Given the description of an element on the screen output the (x, y) to click on. 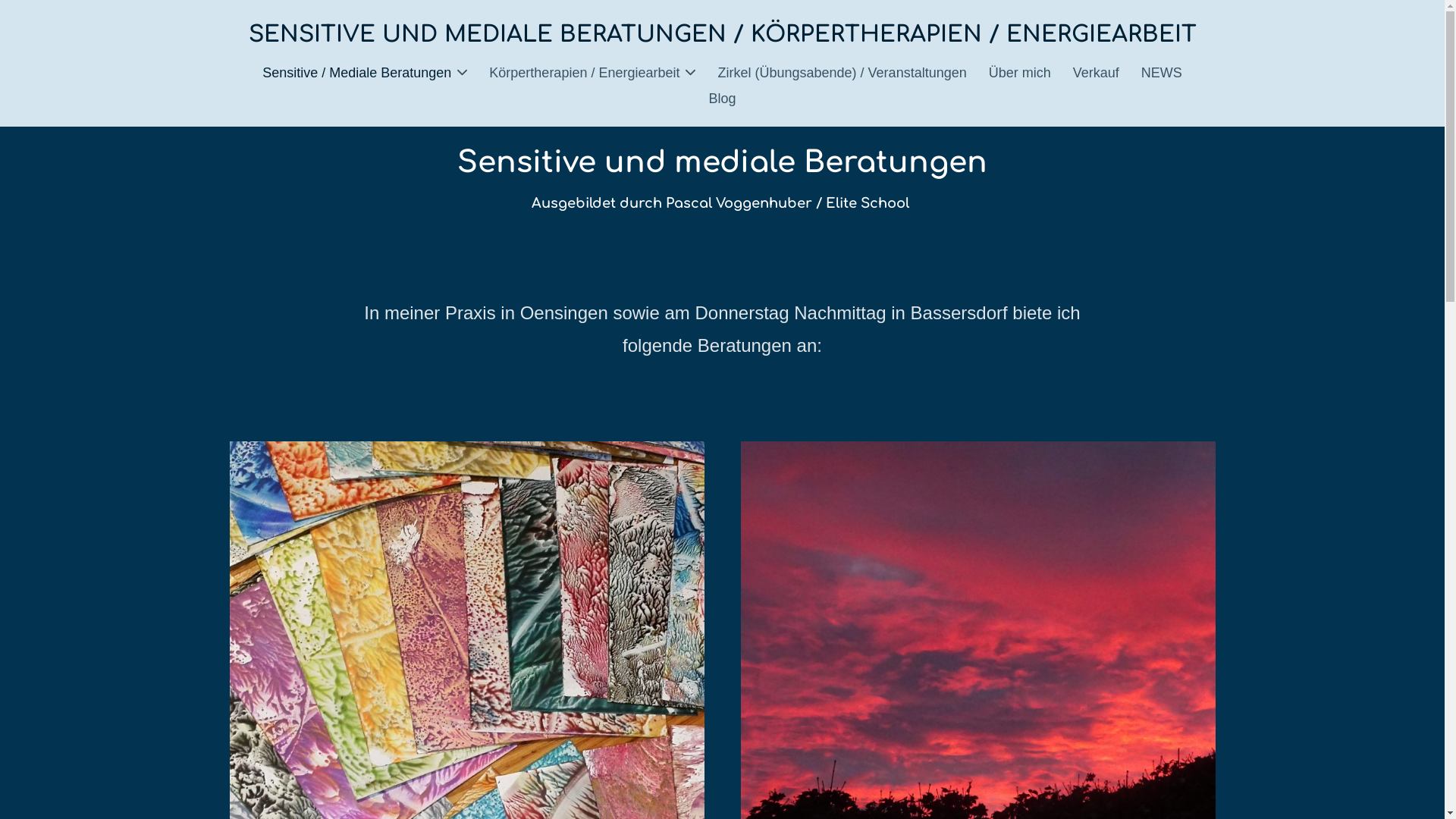
Verkauf Element type: text (1095, 72)
Blog Element type: text (721, 98)
NEWS Element type: text (1161, 72)
Elite School Element type: text (865, 202)
